Given the description of an element on the screen output the (x, y) to click on. 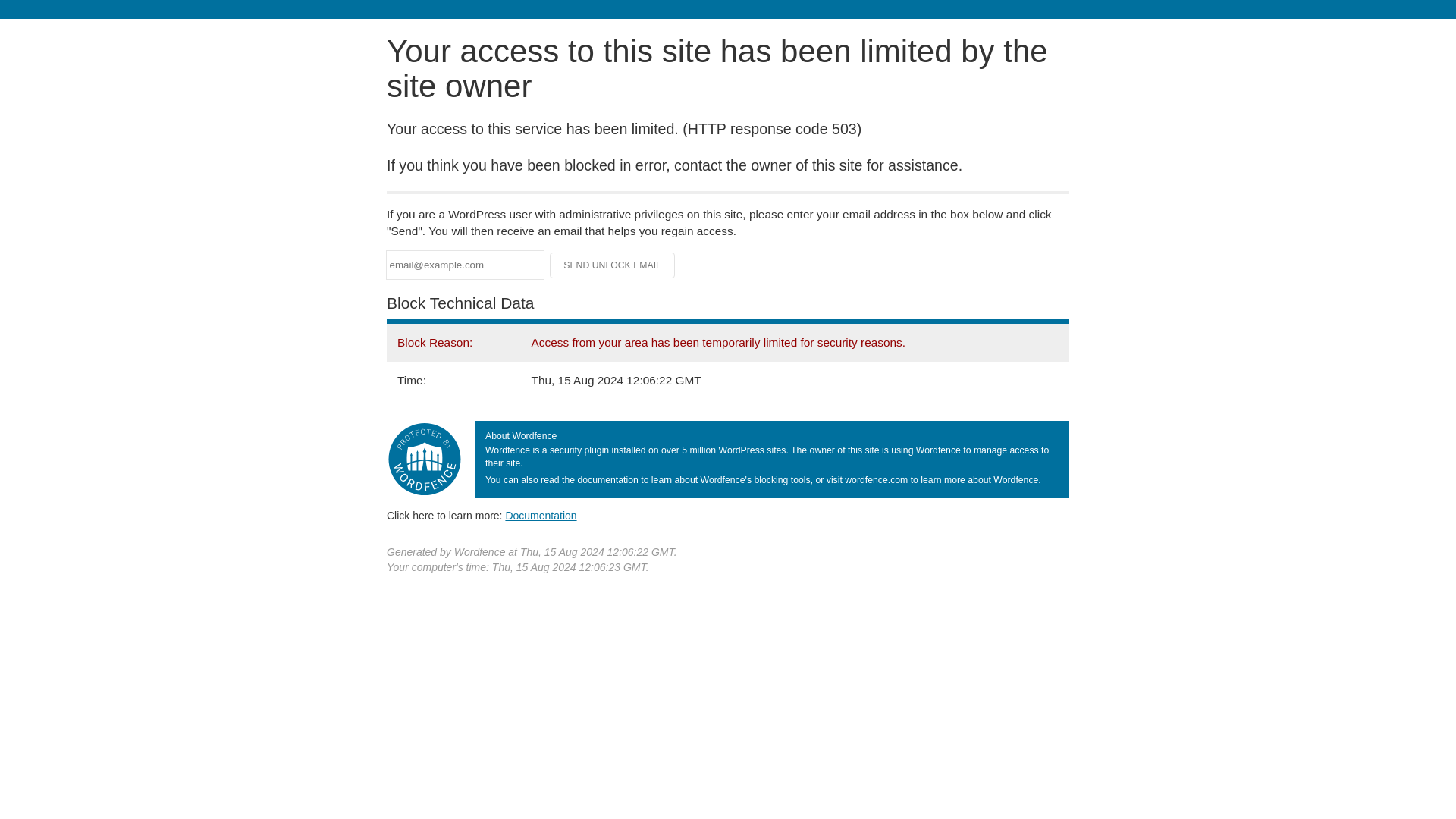
Send Unlock Email (612, 265)
Documentation (540, 515)
Send Unlock Email (612, 265)
